Given the description of an element on the screen output the (x, y) to click on. 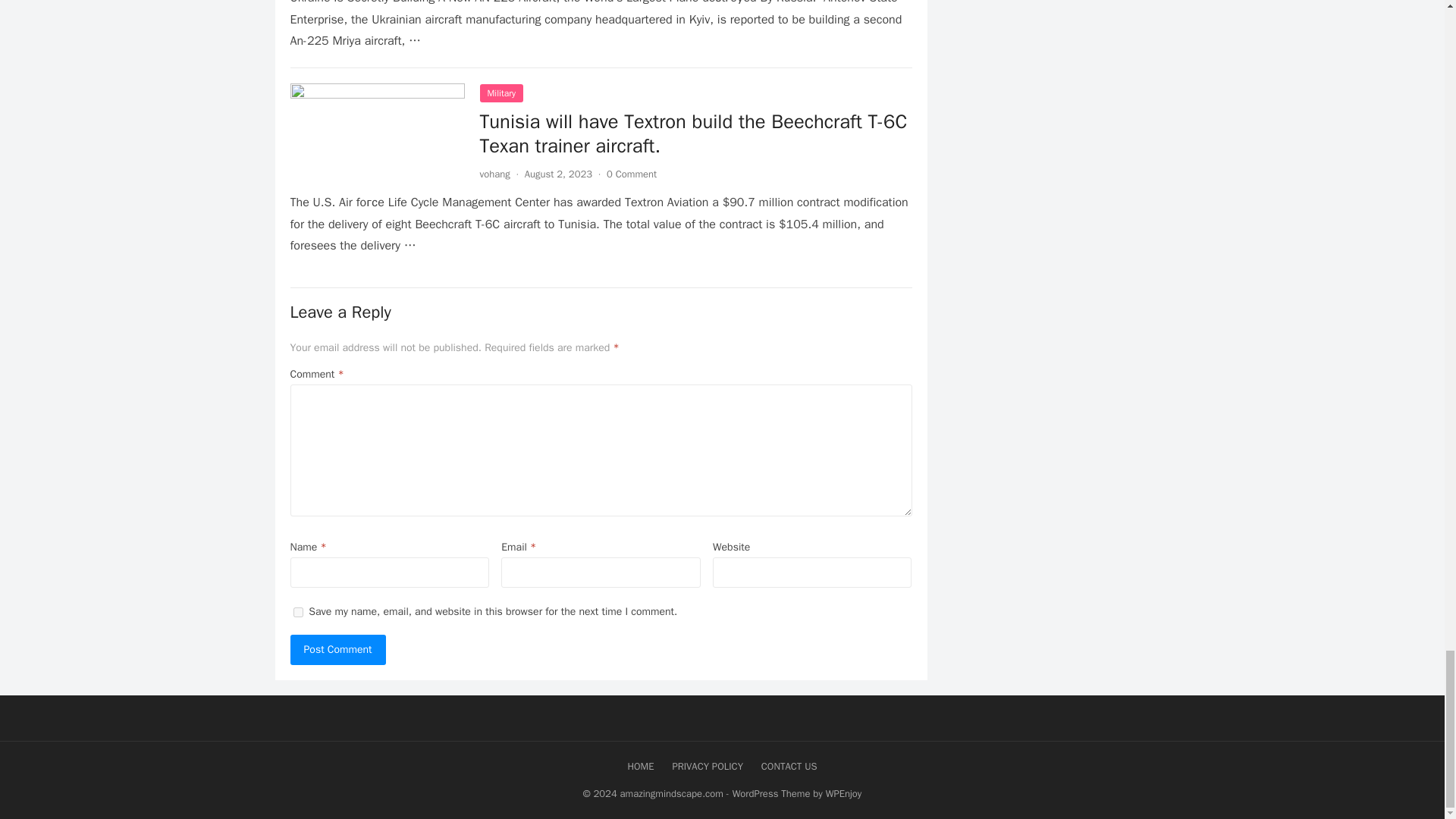
Posts by vohang (494, 173)
Post Comment (337, 649)
yes (297, 611)
